Given the description of an element on the screen output the (x, y) to click on. 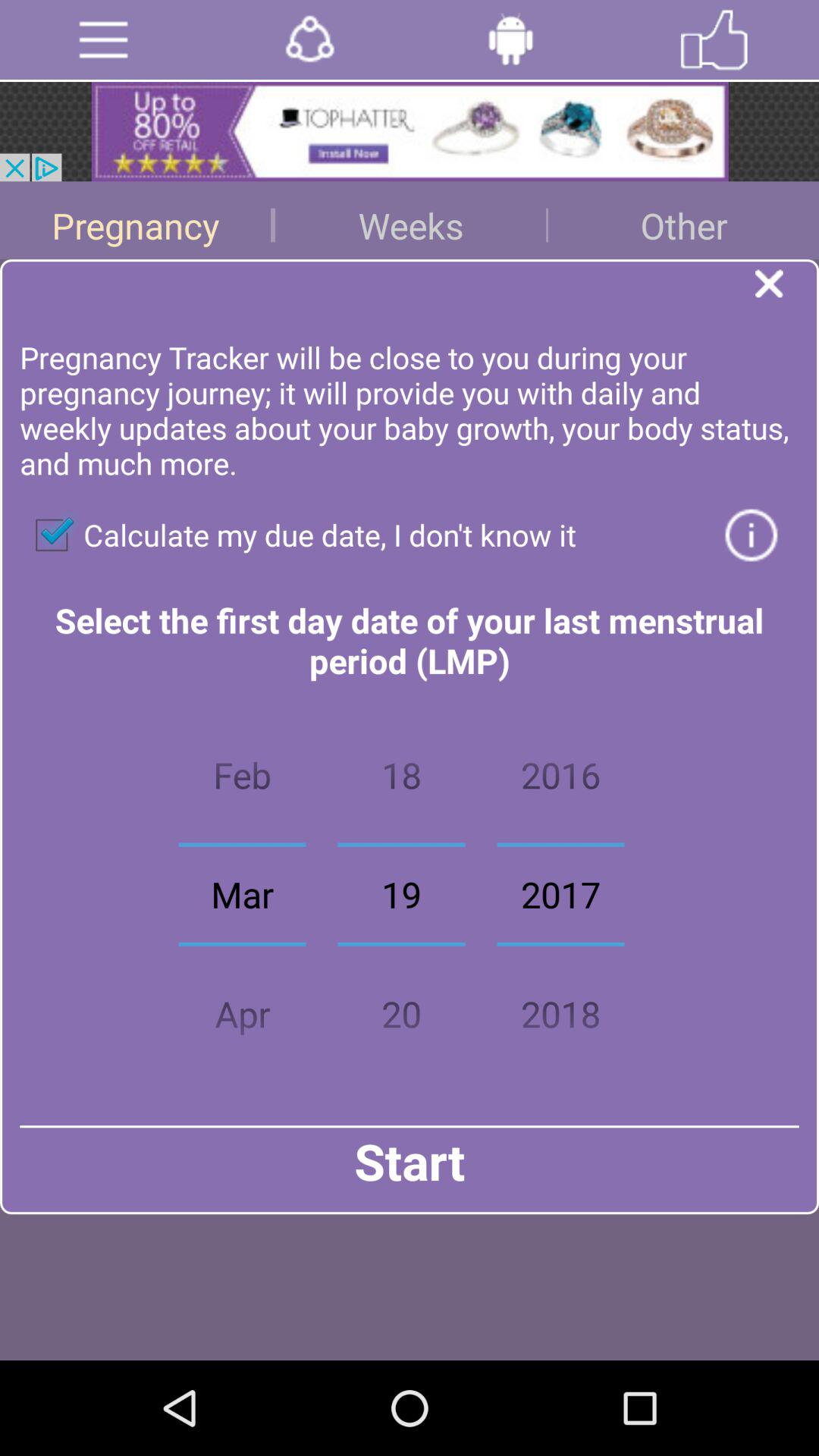
like the page (714, 39)
